Given the description of an element on the screen output the (x, y) to click on. 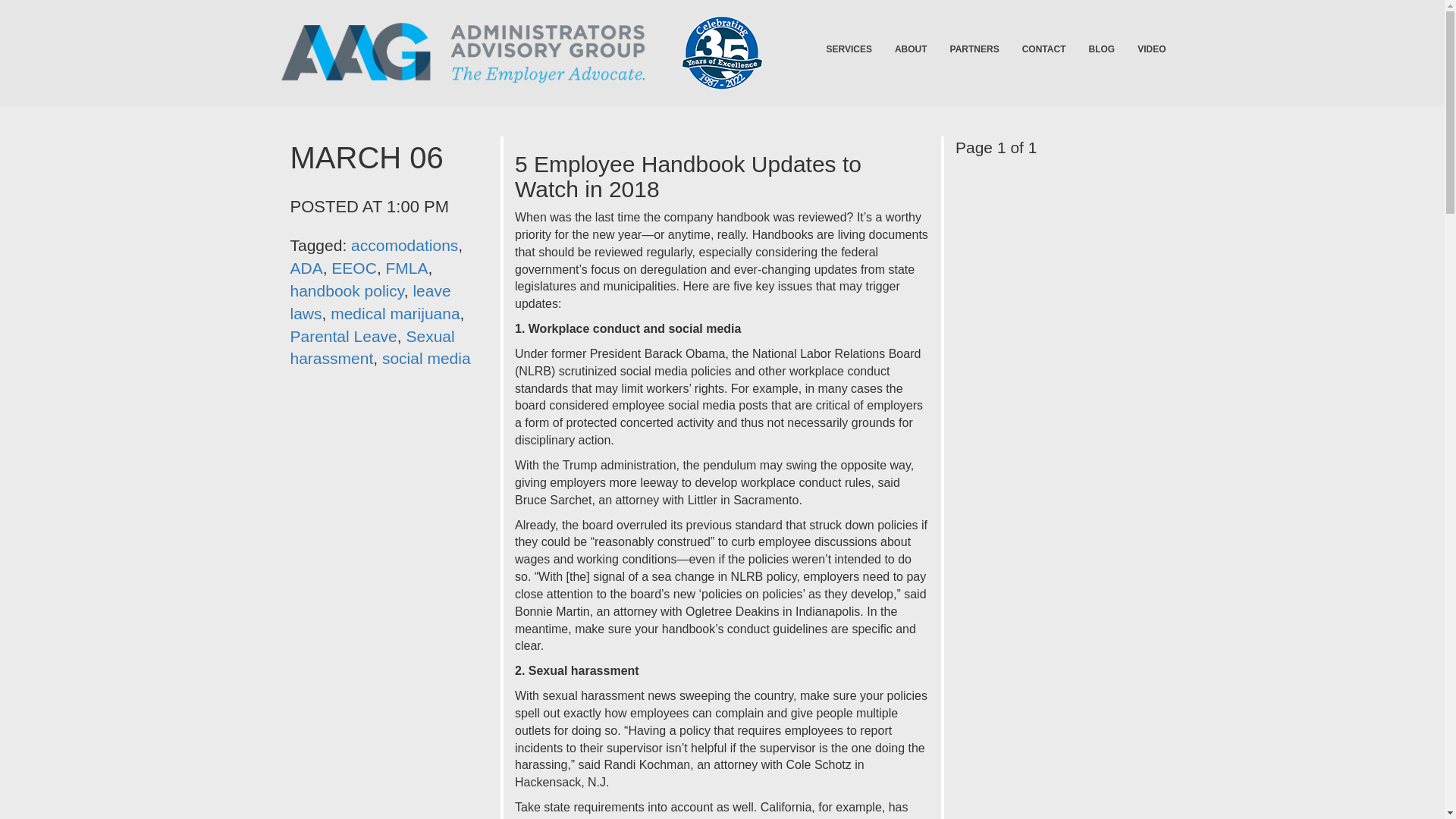
Contact (1043, 48)
medical marijuana (395, 313)
SERVICES (847, 48)
handbook policy (346, 290)
Partners (974, 48)
accomodations (404, 244)
Parental Leave (342, 335)
CONTACT (1043, 48)
Services (847, 48)
VIDEO (1150, 48)
